Given the description of an element on the screen output the (x, y) to click on. 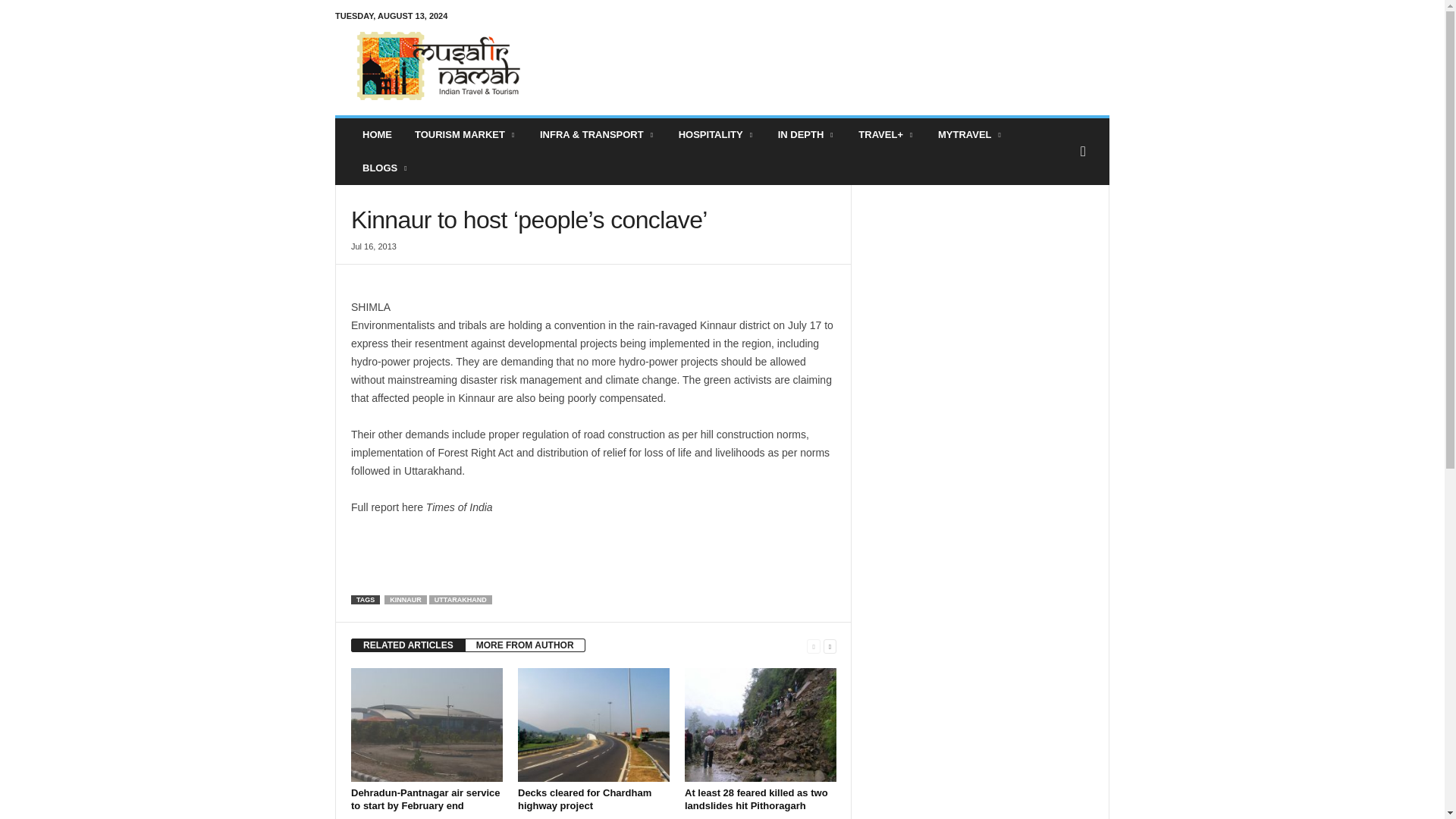
Musafir Namah (438, 65)
Blogs (385, 168)
Advertisement (833, 65)
